Given the description of an element on the screen output the (x, y) to click on. 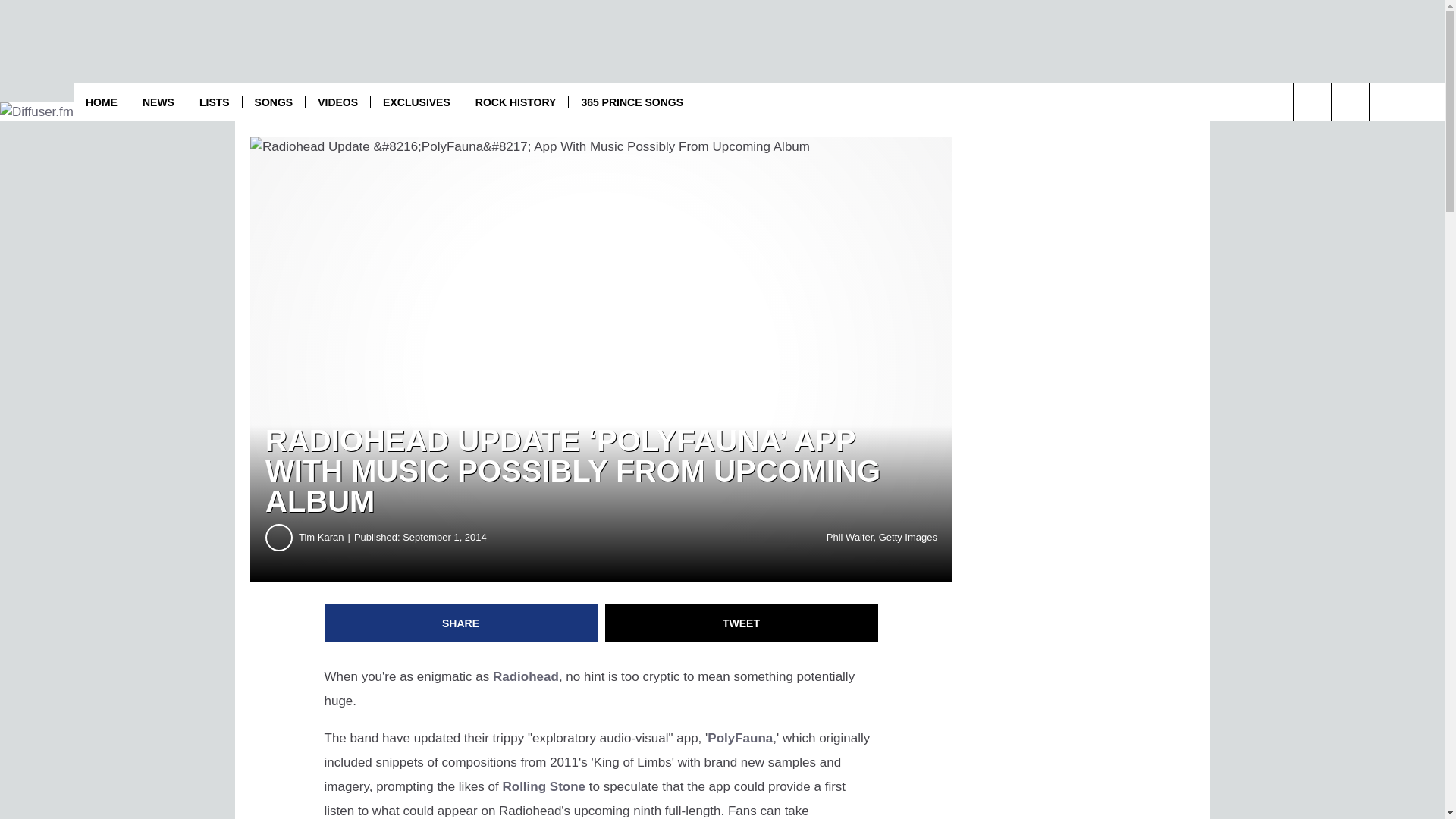
NEWS (157, 102)
TWEET (741, 623)
365 PRINCE SONGS (631, 102)
SHARE (460, 623)
Tim Karan (325, 537)
PolyFauna (740, 738)
ROCK HISTORY (516, 102)
LISTS (213, 102)
Radiohead (526, 676)
SONGS (273, 102)
VIDEOS (336, 102)
TWEET (741, 623)
SHARE (460, 623)
Rolling Stone (543, 786)
EXCLUSIVES (416, 102)
